Given the description of an element on the screen output the (x, y) to click on. 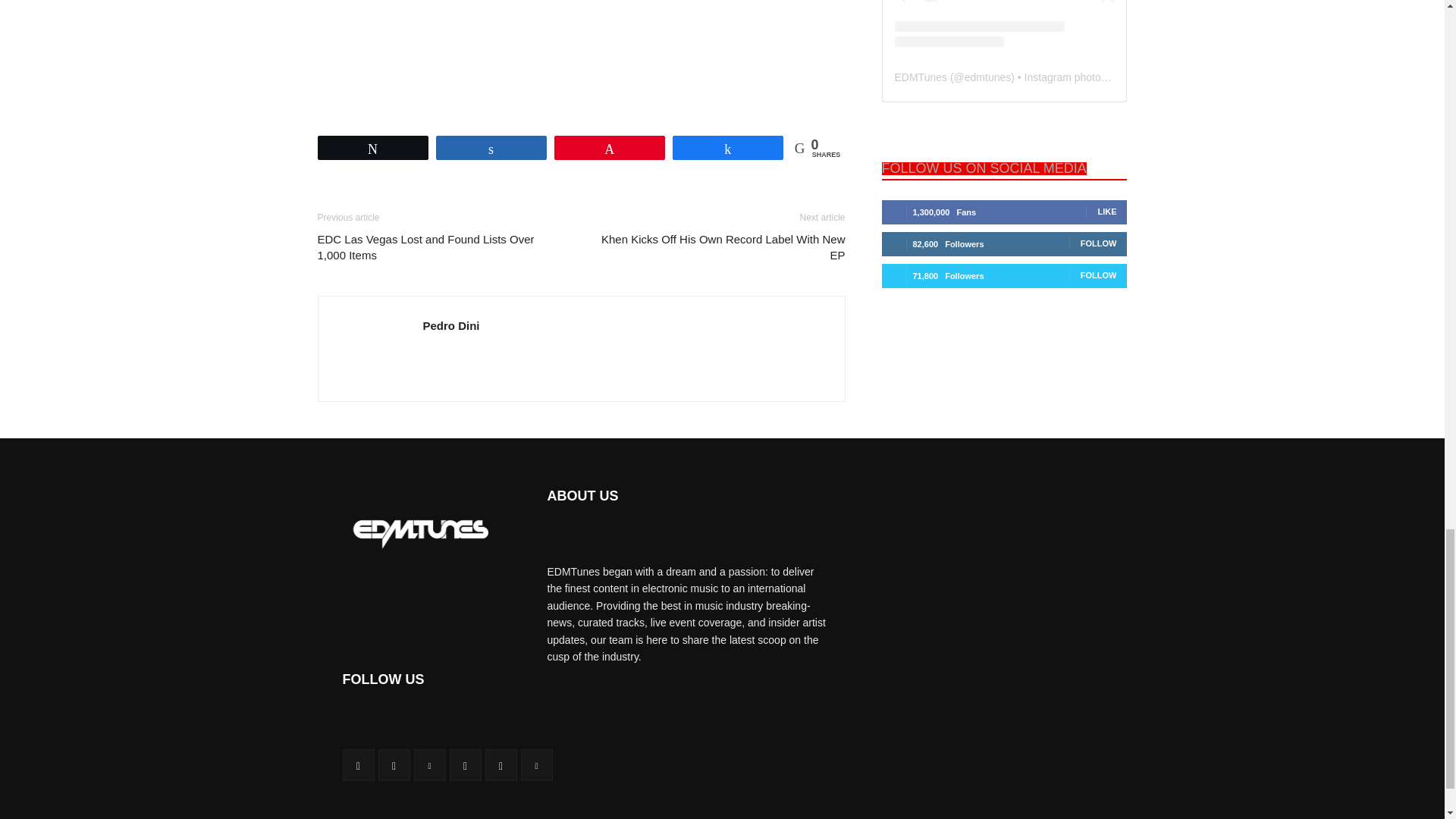
Facebook (358, 765)
Instagram (393, 765)
Spotify Embed: Levels (580, 54)
